Given the description of an element on the screen output the (x, y) to click on. 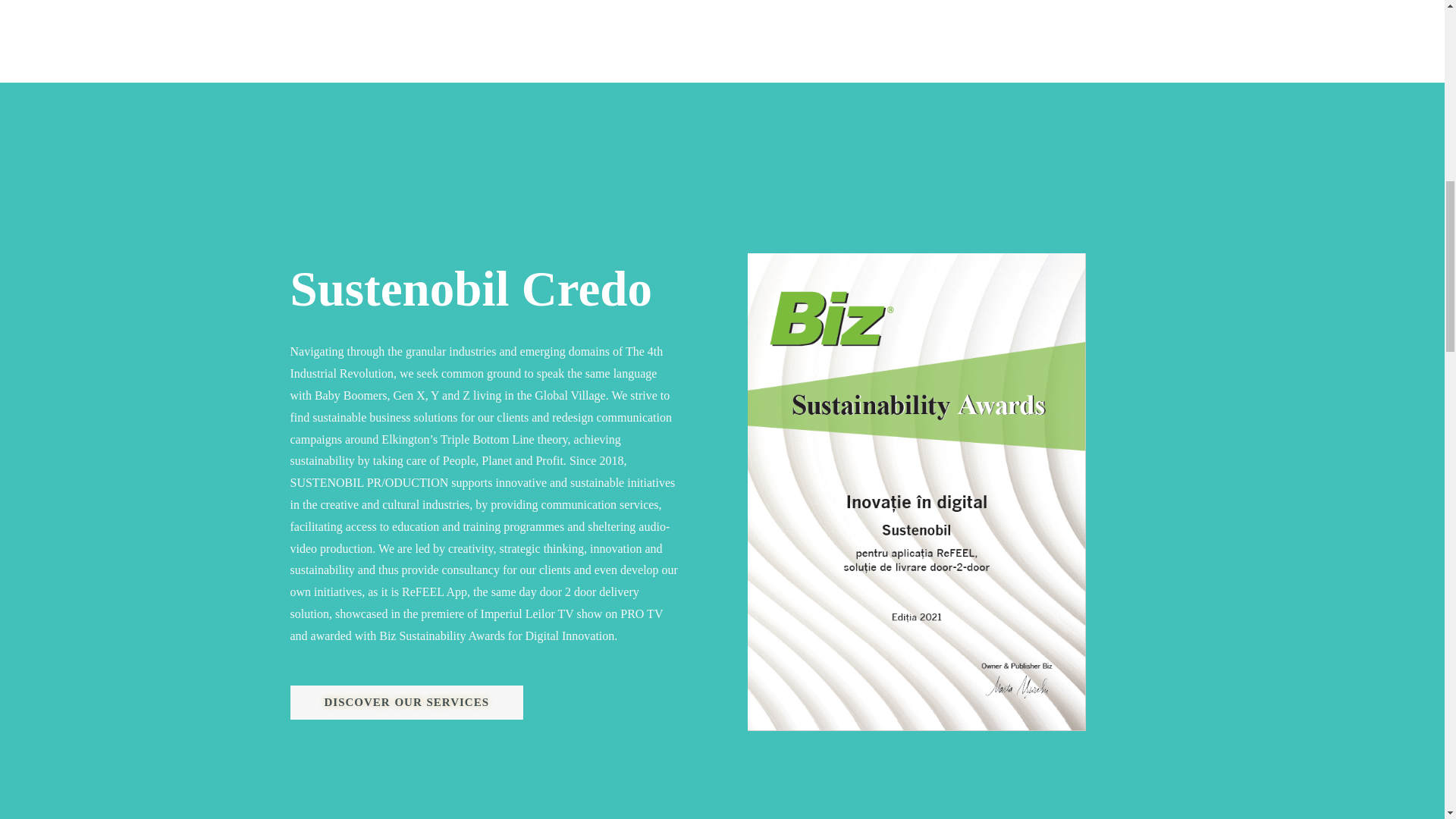
DISCOVER OUR SERVICES (405, 702)
